Given the description of an element on the screen output the (x, y) to click on. 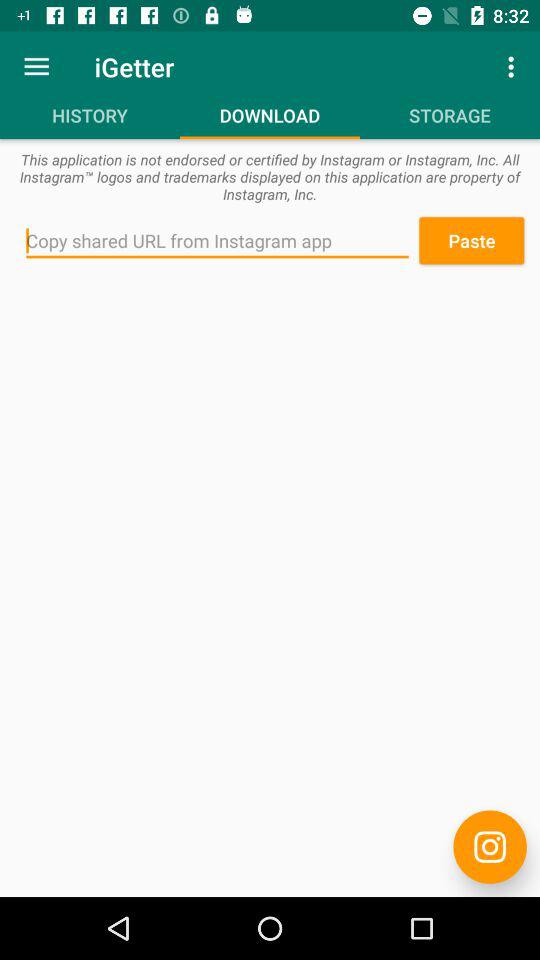
press the paste item (471, 240)
